Given the description of an element on the screen output the (x, y) to click on. 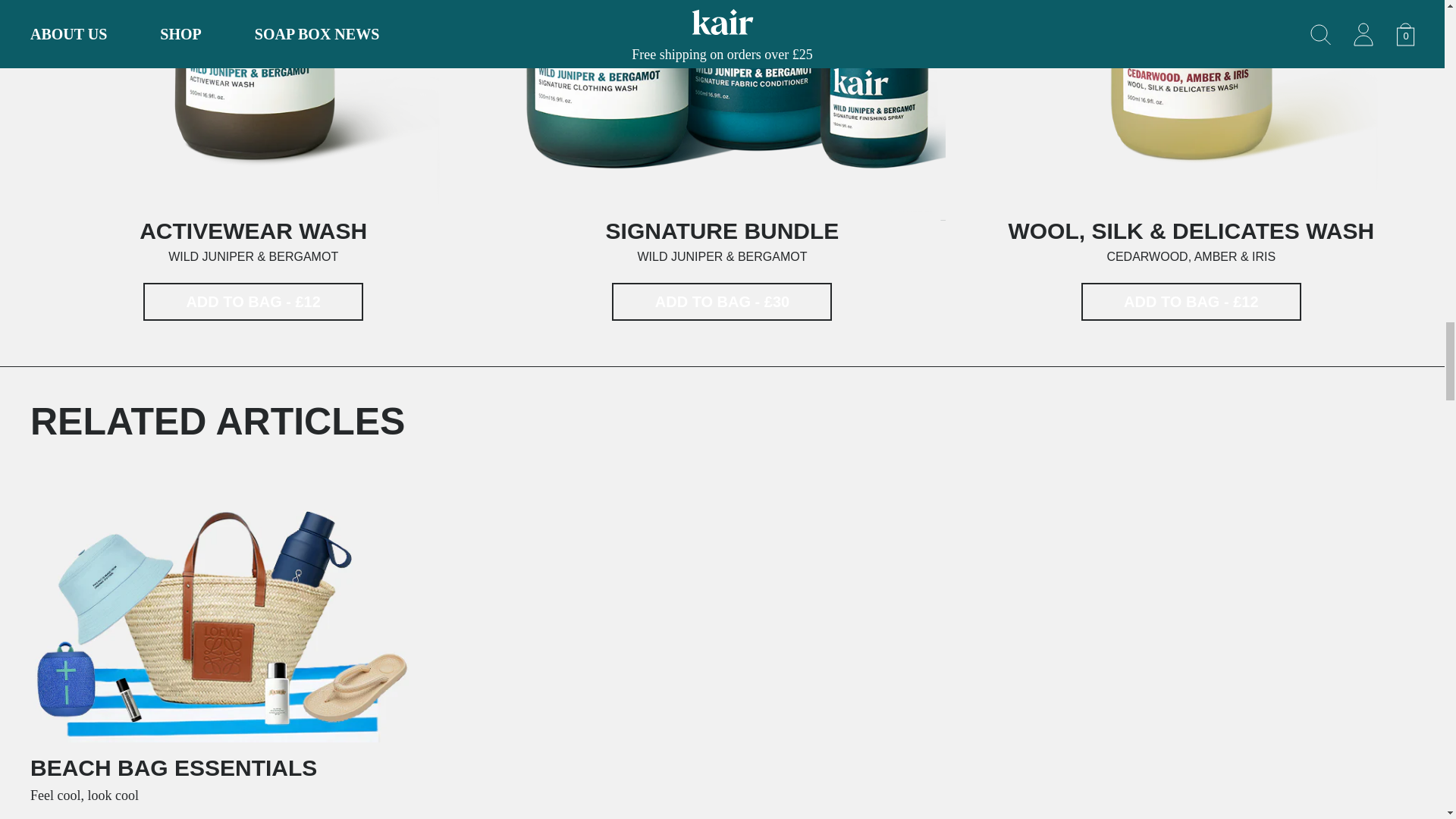
ACTIVEWEAR WASH (722, 230)
